Given the description of an element on the screen output the (x, y) to click on. 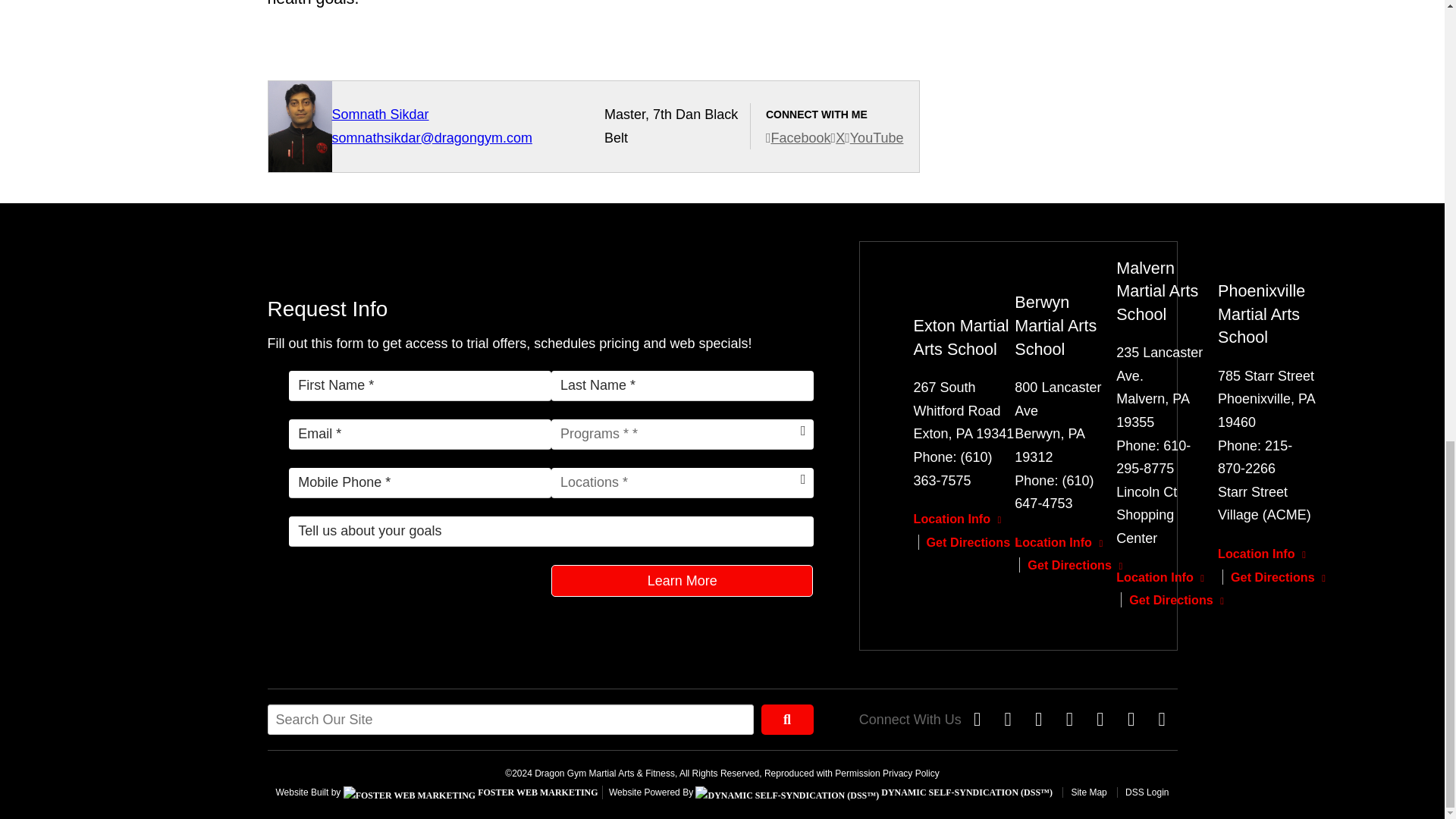
Follow me on X (838, 137)
Watch me on YouTube (873, 137)
Find me on Facebook (798, 137)
Search (787, 719)
